Given the description of an element on the screen output the (x, y) to click on. 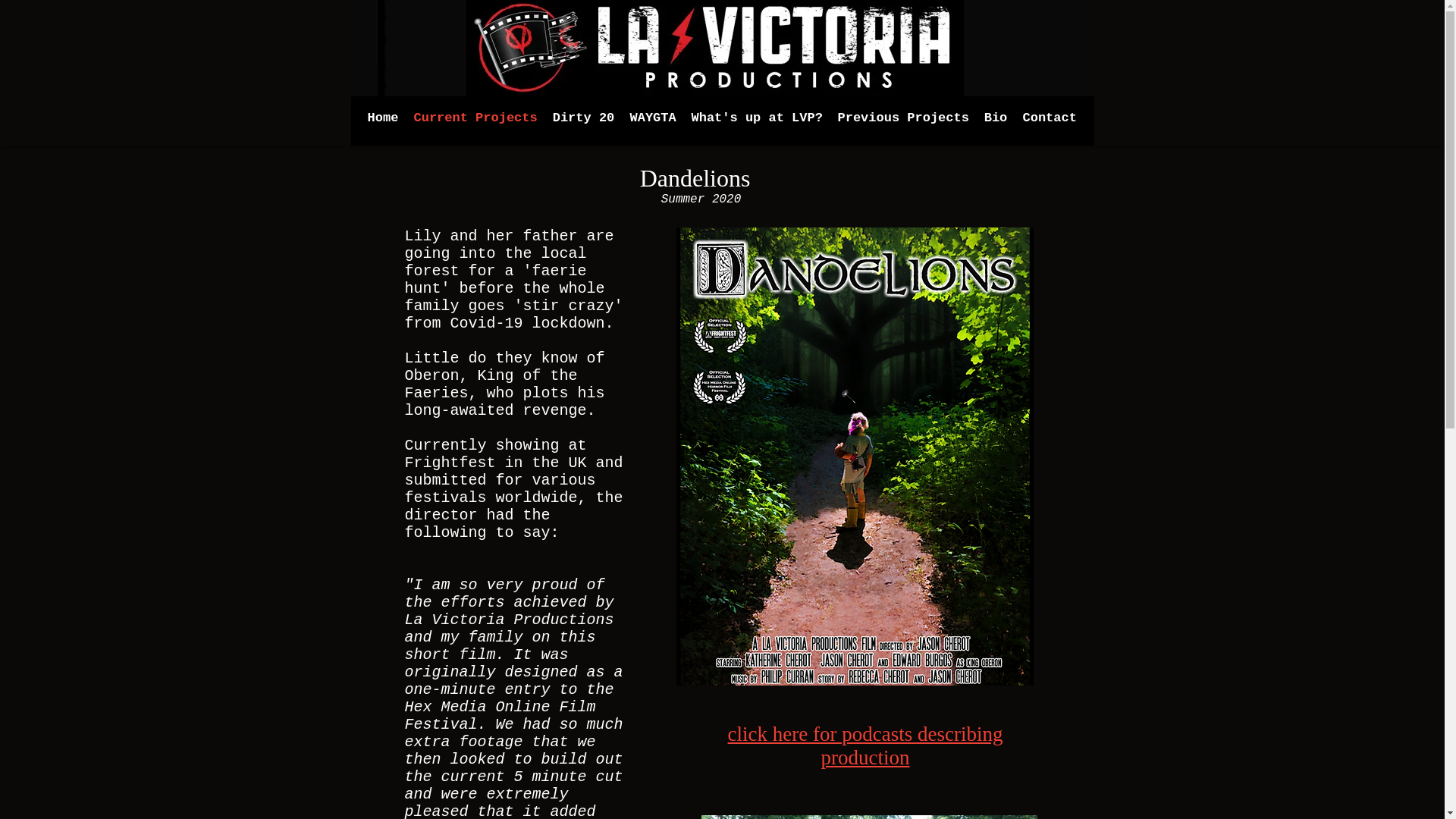
Home (382, 117)
Contact (1048, 117)
Dirty 20 (582, 117)
Current Projects (475, 117)
click here for podcasts describing production (865, 745)
WAYGTA (651, 117)
What's up at LVP? (756, 117)
Bio (995, 117)
Previous Projects (902, 117)
